Given the description of an element on the screen output the (x, y) to click on. 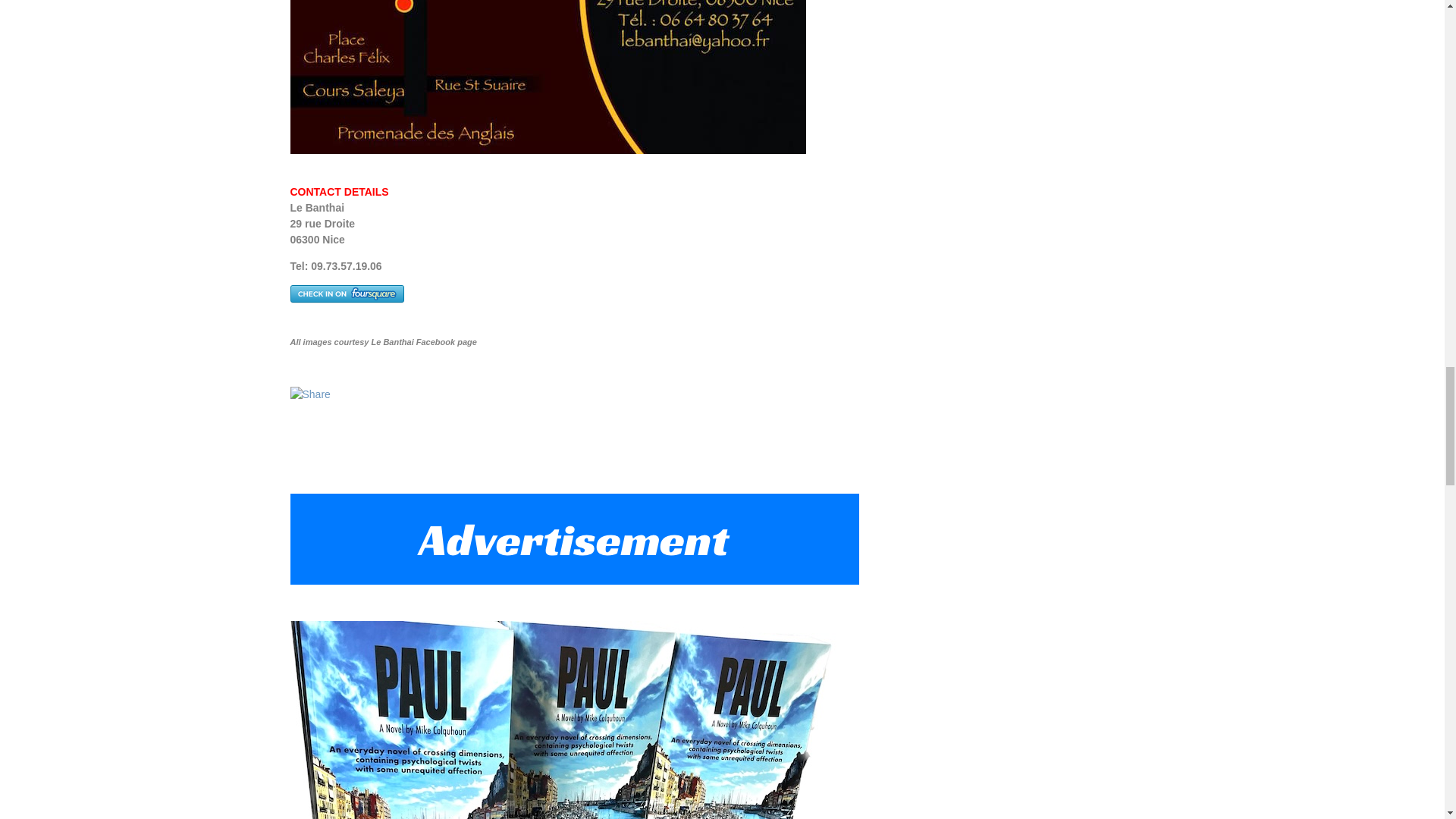
Share Button (309, 394)
